Given the description of an element on the screen output the (x, y) to click on. 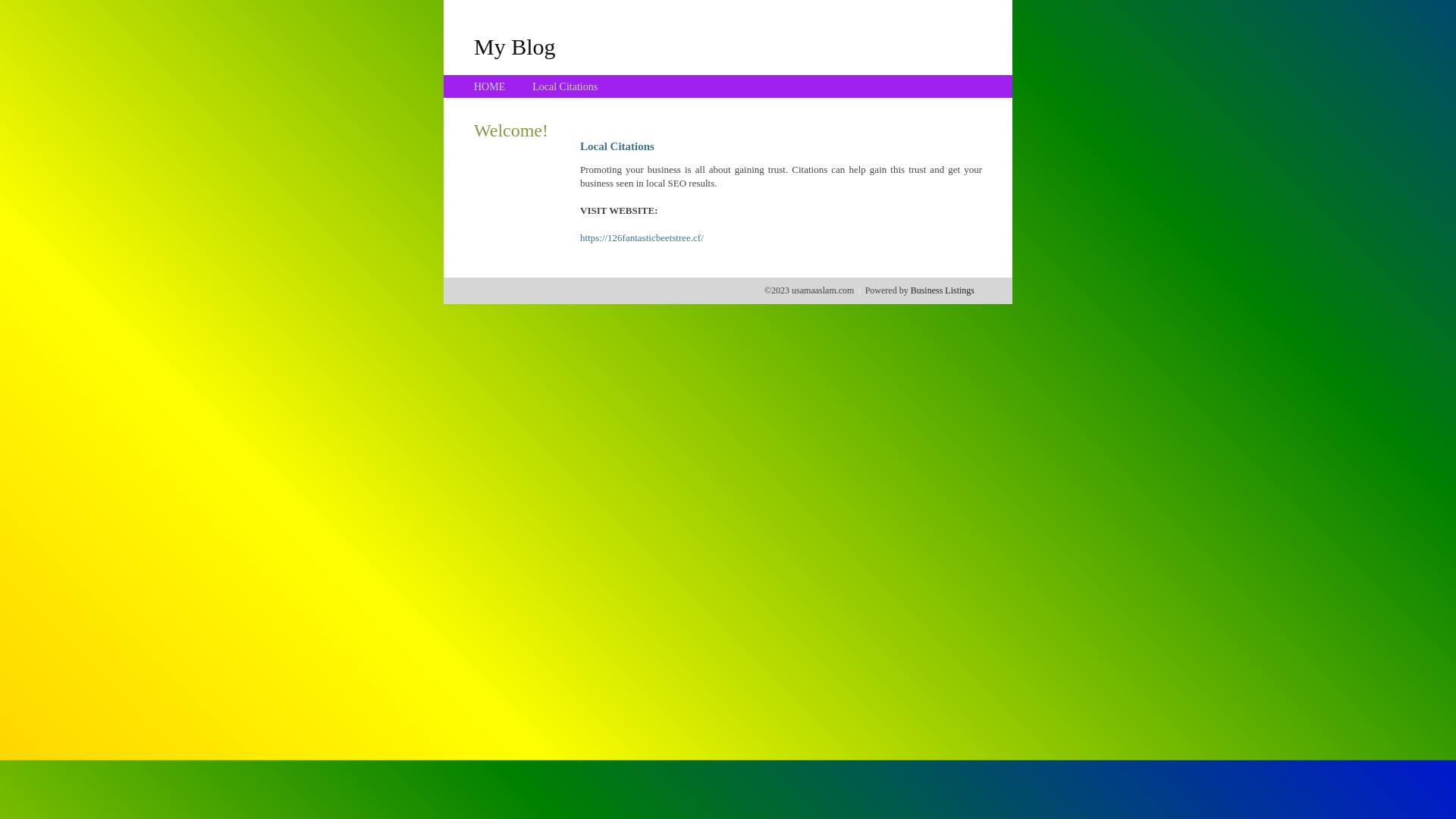
My Blog Element type: text (514, 46)
Local Citations Element type: text (564, 86)
HOME Element type: text (489, 86)
Business Listings Element type: text (942, 290)
https://126fantasticbeetstree.cf/ Element type: text (641, 237)
